Given the description of an element on the screen output the (x, y) to click on. 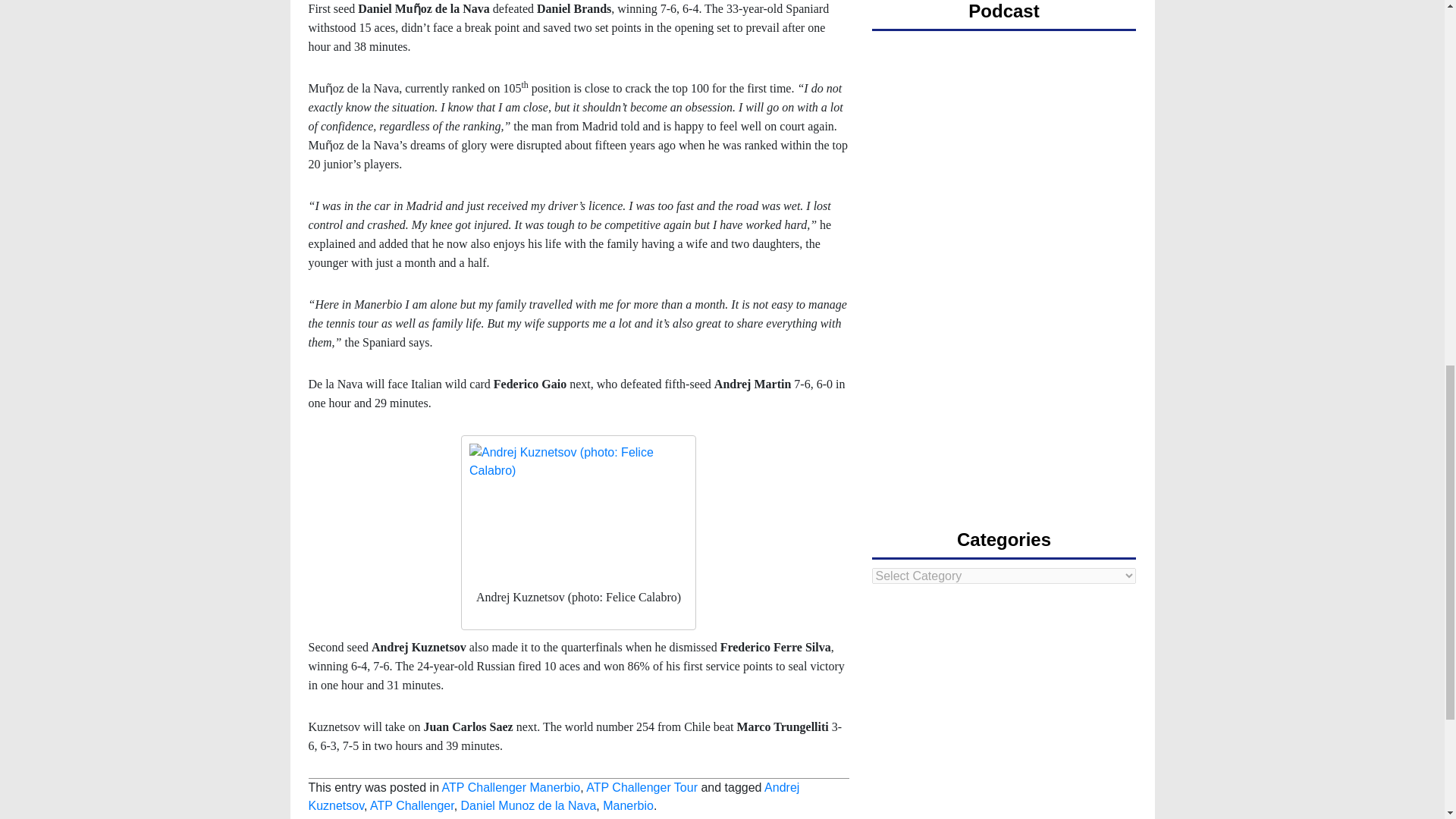
Andrej Kuznetsov (553, 796)
ATP Challenger (411, 805)
ATP Challenger Tour (641, 787)
ATP Challenger Manerbio (511, 787)
Daniel Munoz de la Nava (528, 805)
Manerbio (627, 805)
